Given the description of an element on the screen output the (x, y) to click on. 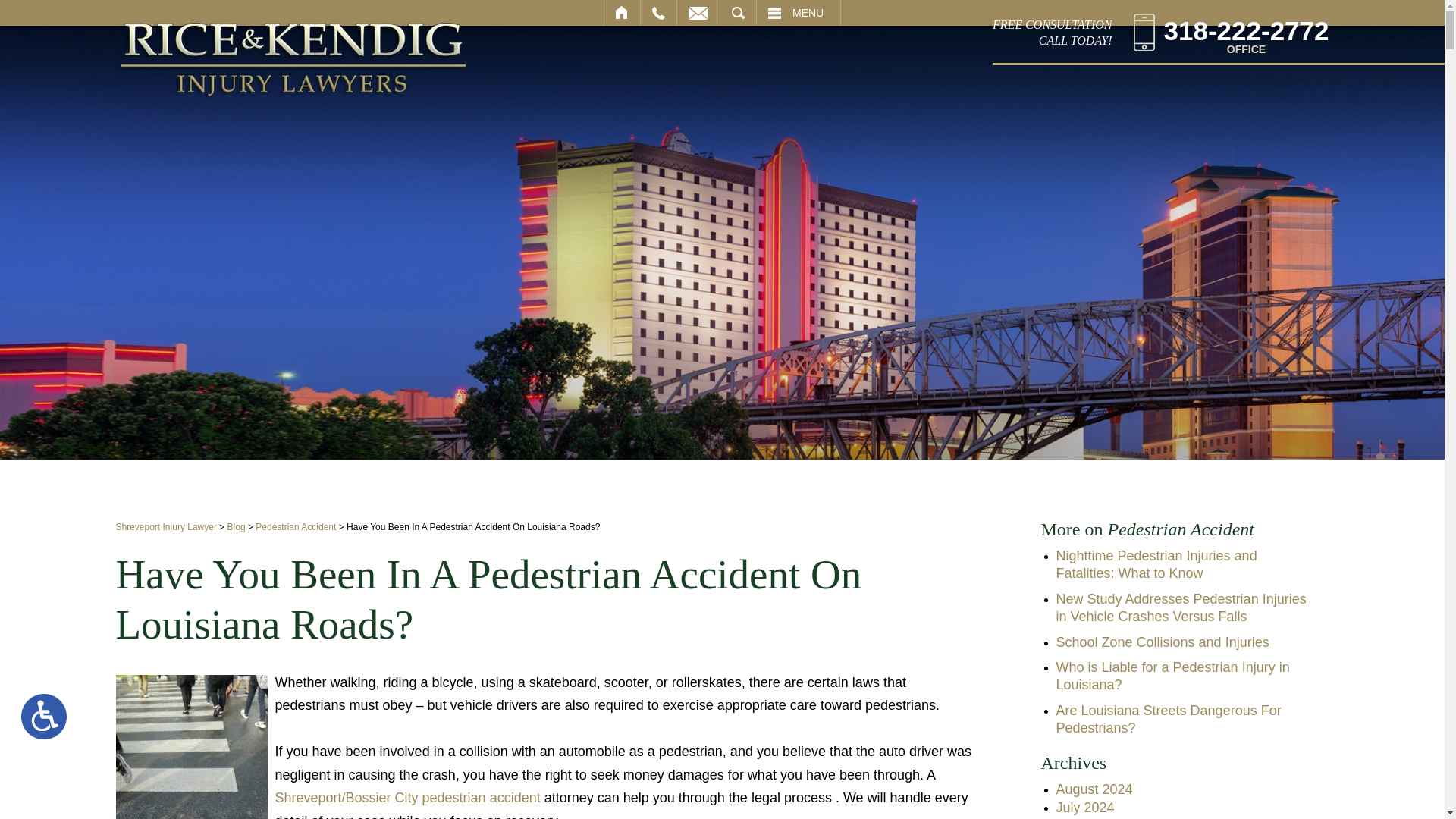
EMAIL (698, 12)
Switch to ADA Accessible Theme (43, 716)
MENU (798, 12)
Pedestrians (190, 746)
HOME (622, 12)
CALL (658, 12)
SEARCH (1231, 31)
